Given the description of an element on the screen output the (x, y) to click on. 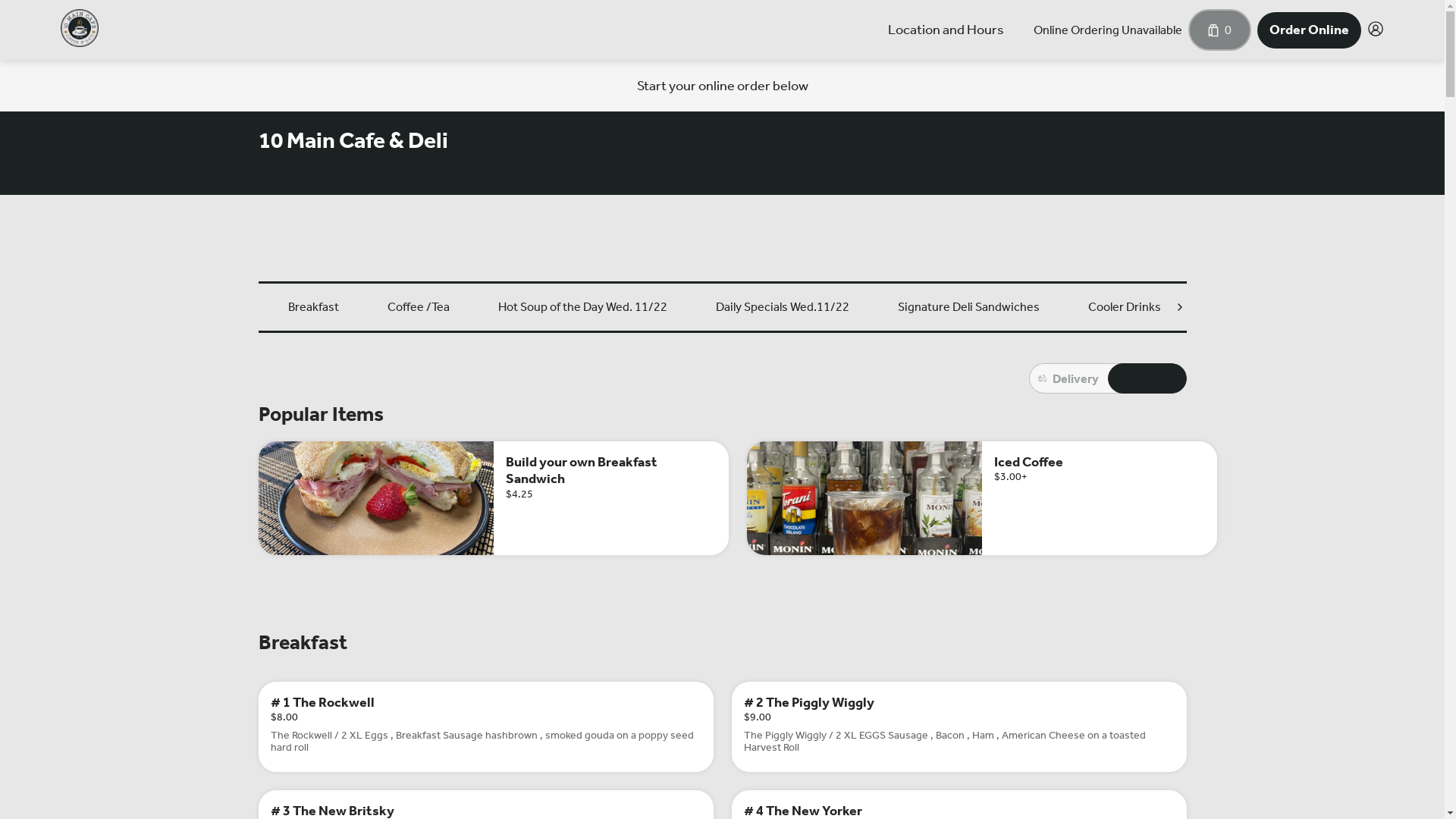
0 Element type: text (1219, 29)
Breakfast Element type: text (313, 306)
Coffee /Tea Element type: text (417, 306)
Pickup Element type: text (1146, 378)
Iced Coffee
$3.00+ Element type: text (981, 498)
Daily Specials Wed.11/22 Element type: text (782, 306)
12 Inch Grinder Element type: text (1249, 306)
Build your own Breakfast Sandwich
$4.25 Element type: text (492, 498)
Hot Soup of the Day Wed. 11/22 Element type: text (581, 306)
Location and Hours Element type: text (945, 29)
Online Ordering Unavailable Element type: text (1107, 30)
Signature Deli Sandwiches Element type: text (968, 306)
Order Online Element type: text (1309, 30)
Cooler Drinks Element type: text (1123, 306)
Delivery Element type: text (1067, 378)
Deli Sandwich Element type: text (1377, 306)
Order Online Element type: text (1309, 29)
